Given the description of an element on the screen output the (x, y) to click on. 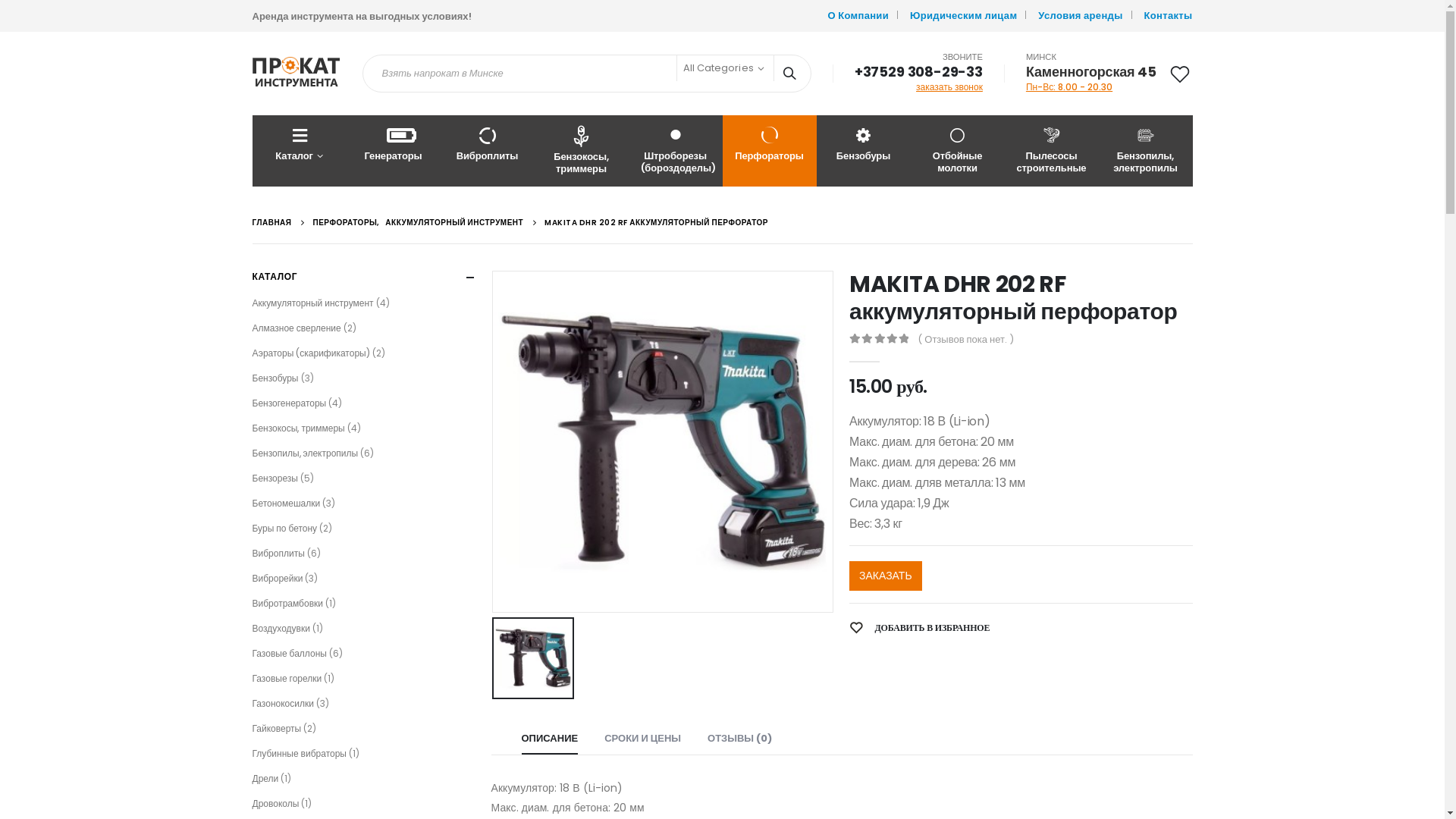
Search Element type: hover (792, 73)
+37529 308-29-33 Element type: text (918, 71)
